Given the description of an element on the screen output the (x, y) to click on. 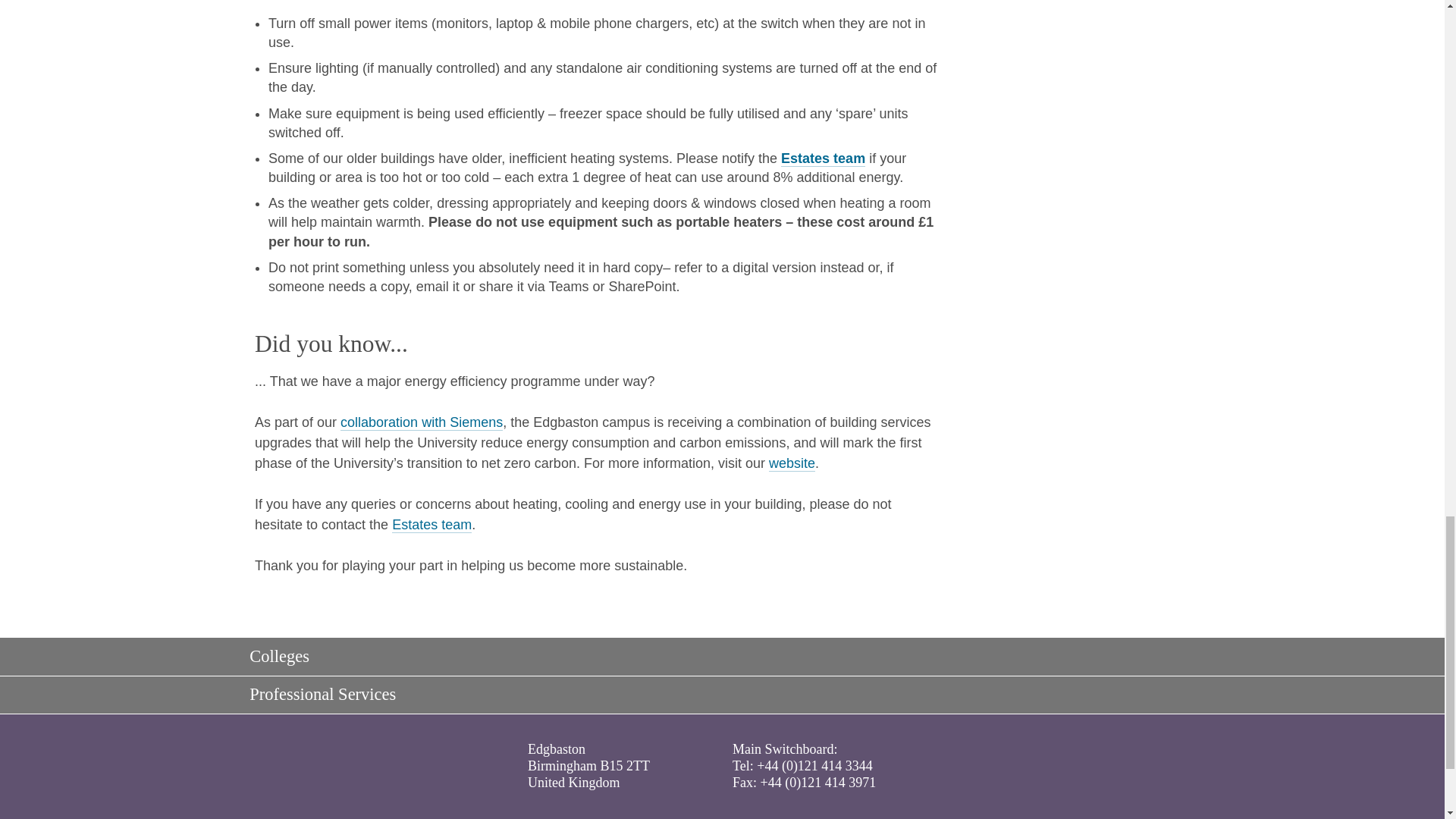
Estates contact links (431, 524)
Journey to zero carbon (791, 463)
Journey to net zero carbon (421, 422)
Estates Team contacts (822, 158)
